Given the description of an element on the screen output the (x, y) to click on. 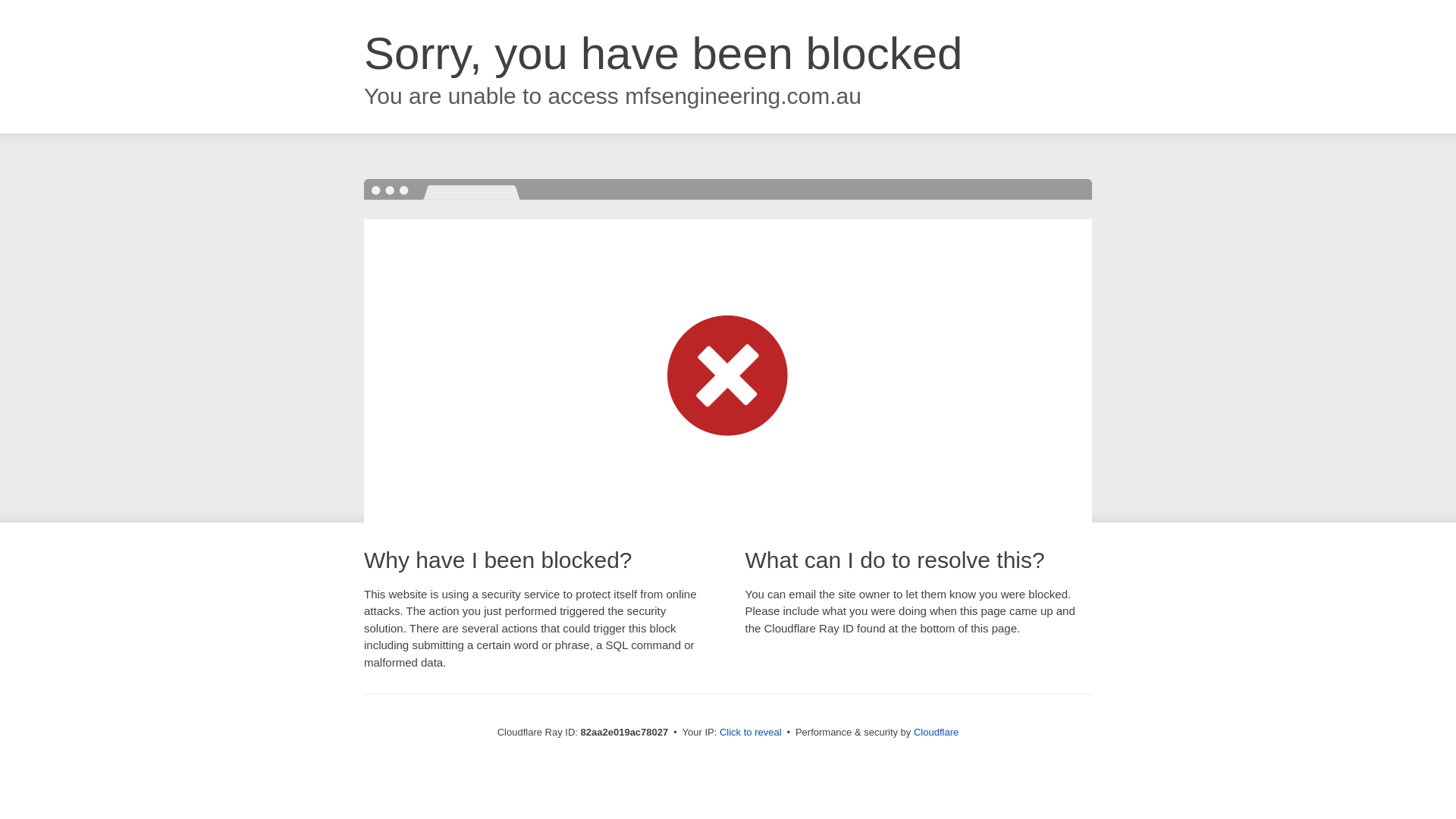
Click to reveal Element type: text (750, 732)
Cloudflare Element type: text (935, 731)
